Given the description of an element on the screen output the (x, y) to click on. 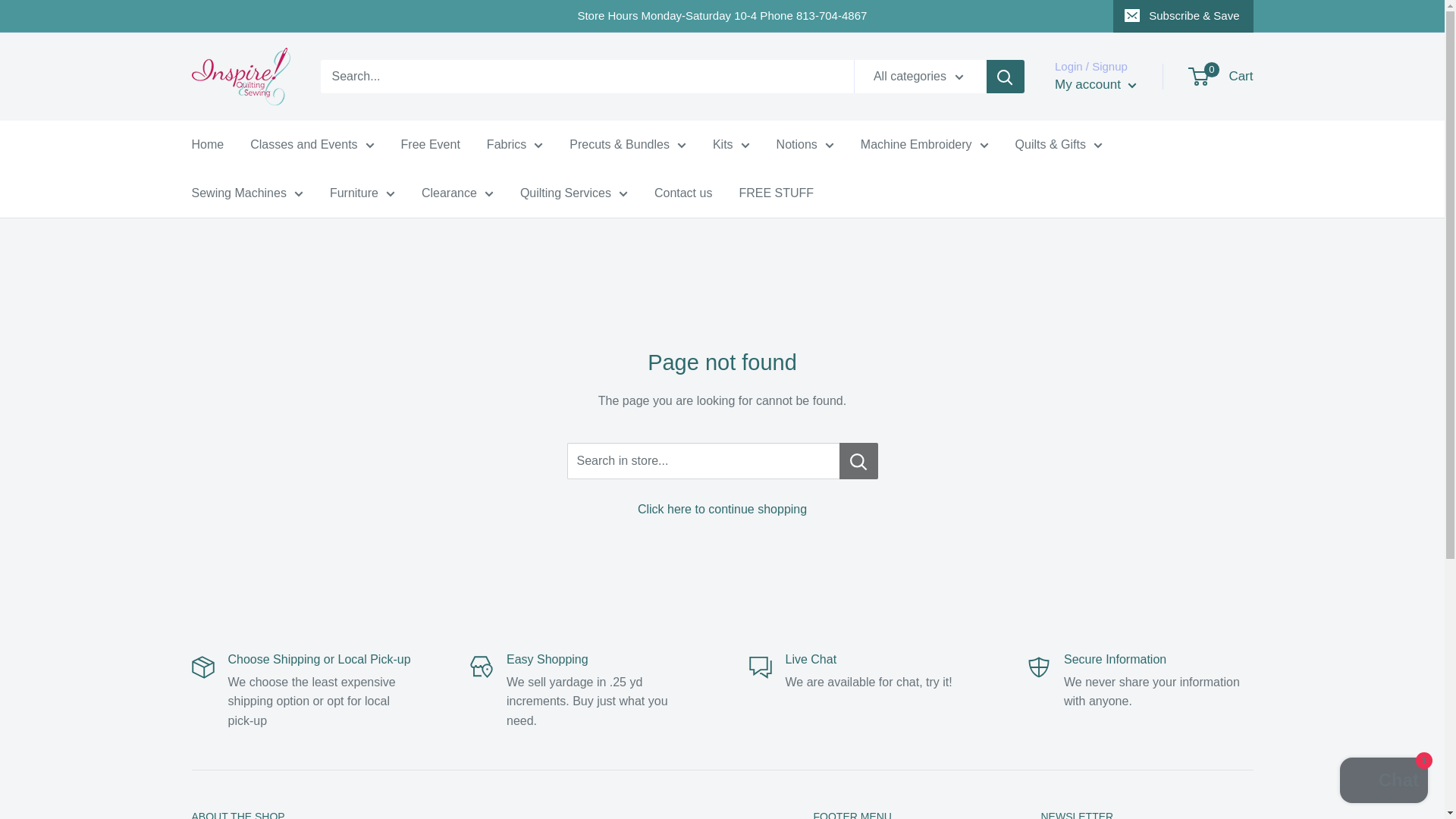
Shopify online store chat (1383, 781)
